Given the description of an element on the screen output the (x, y) to click on. 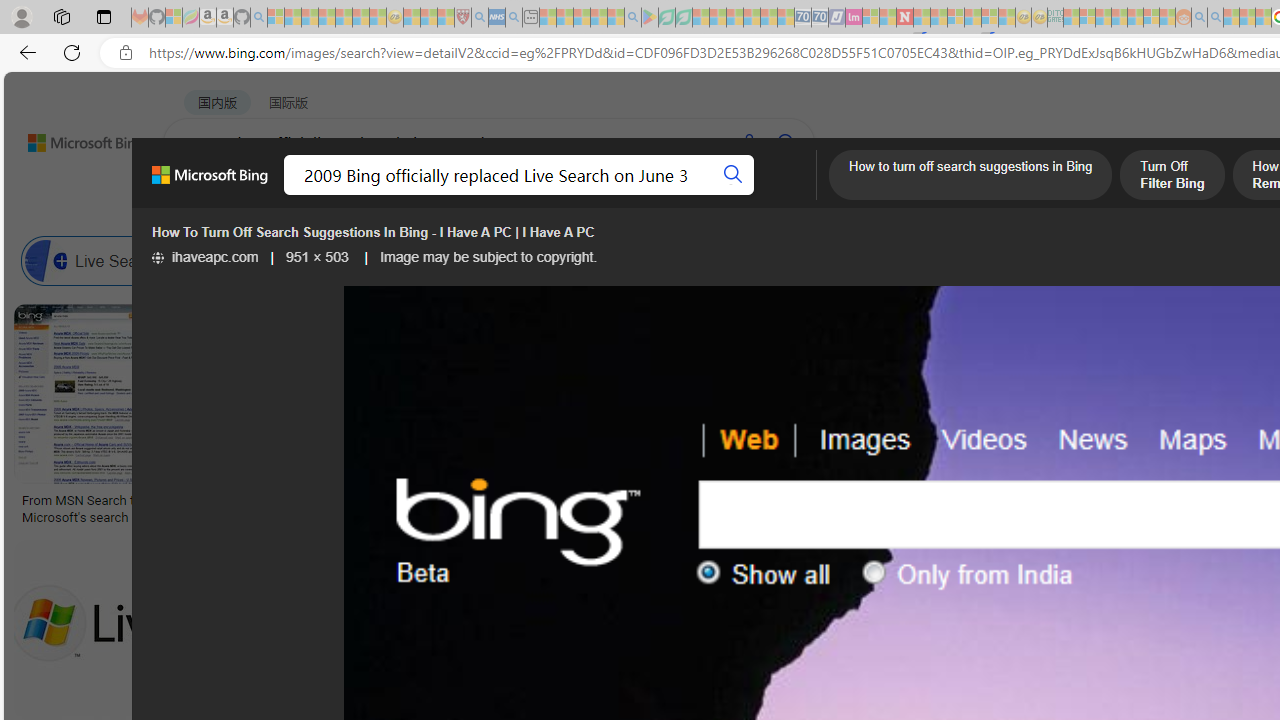
WEB (201, 195)
Class: item col (943, 260)
DITOGAMES AG Imprint - Sleeping (1055, 17)
Latest Politics News & Archive | Newsweek.com - Sleeping (904, 17)
Dropdown Menu (793, 195)
Microsoft Start - Sleeping (1231, 17)
DICT (717, 195)
Terms of Use Agreement - Sleeping (666, 17)
Bing Word Search (648, 260)
WEB (201, 195)
Bing Picture Search Engine (395, 260)
